Given the description of an element on the screen output the (x, y) to click on. 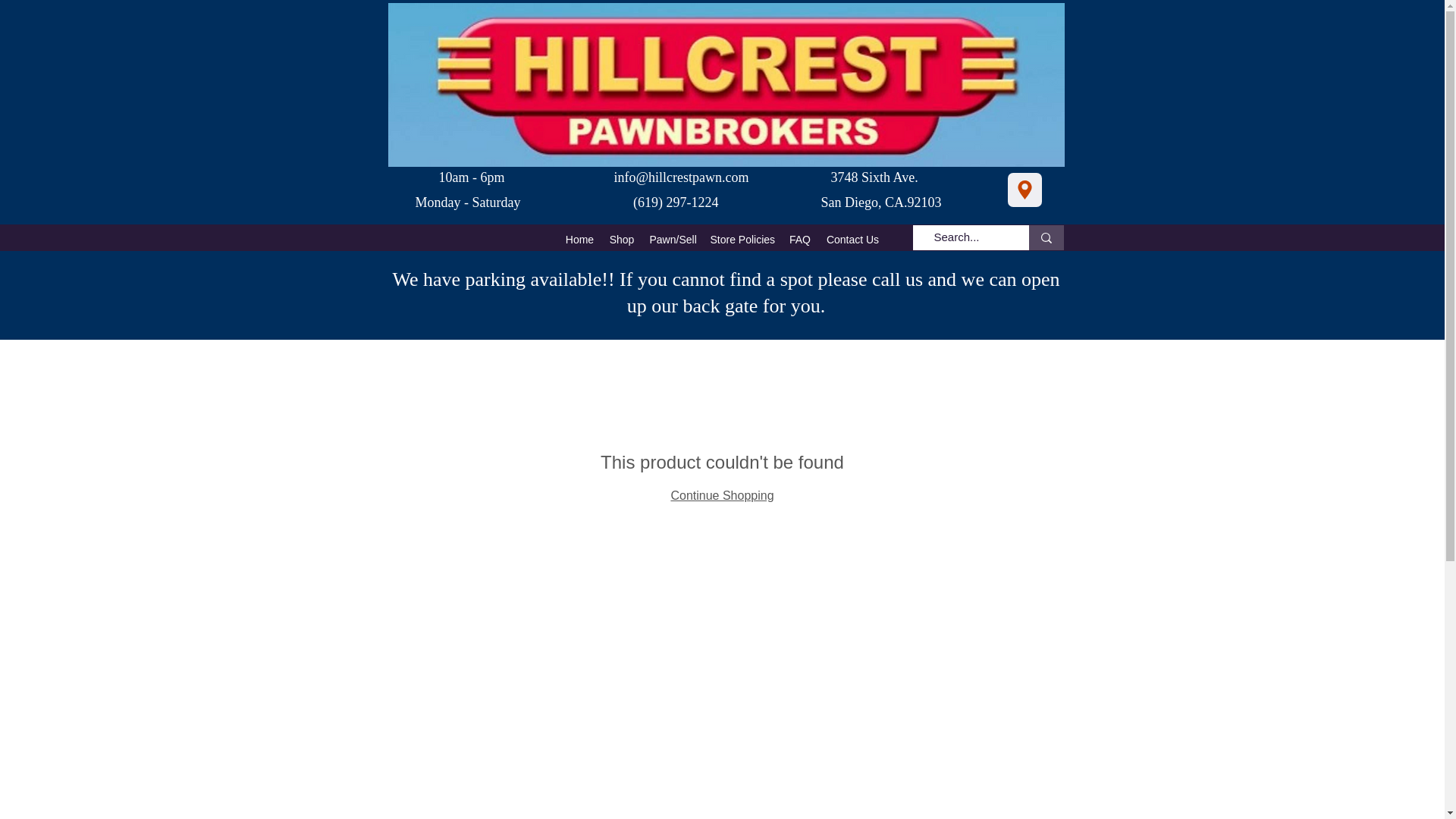
Continue Shopping (721, 495)
Store Policies (740, 239)
Contact Us (852, 239)
Shop (622, 239)
FAQ (799, 239)
Home (579, 239)
